Given the description of an element on the screen output the (x, y) to click on. 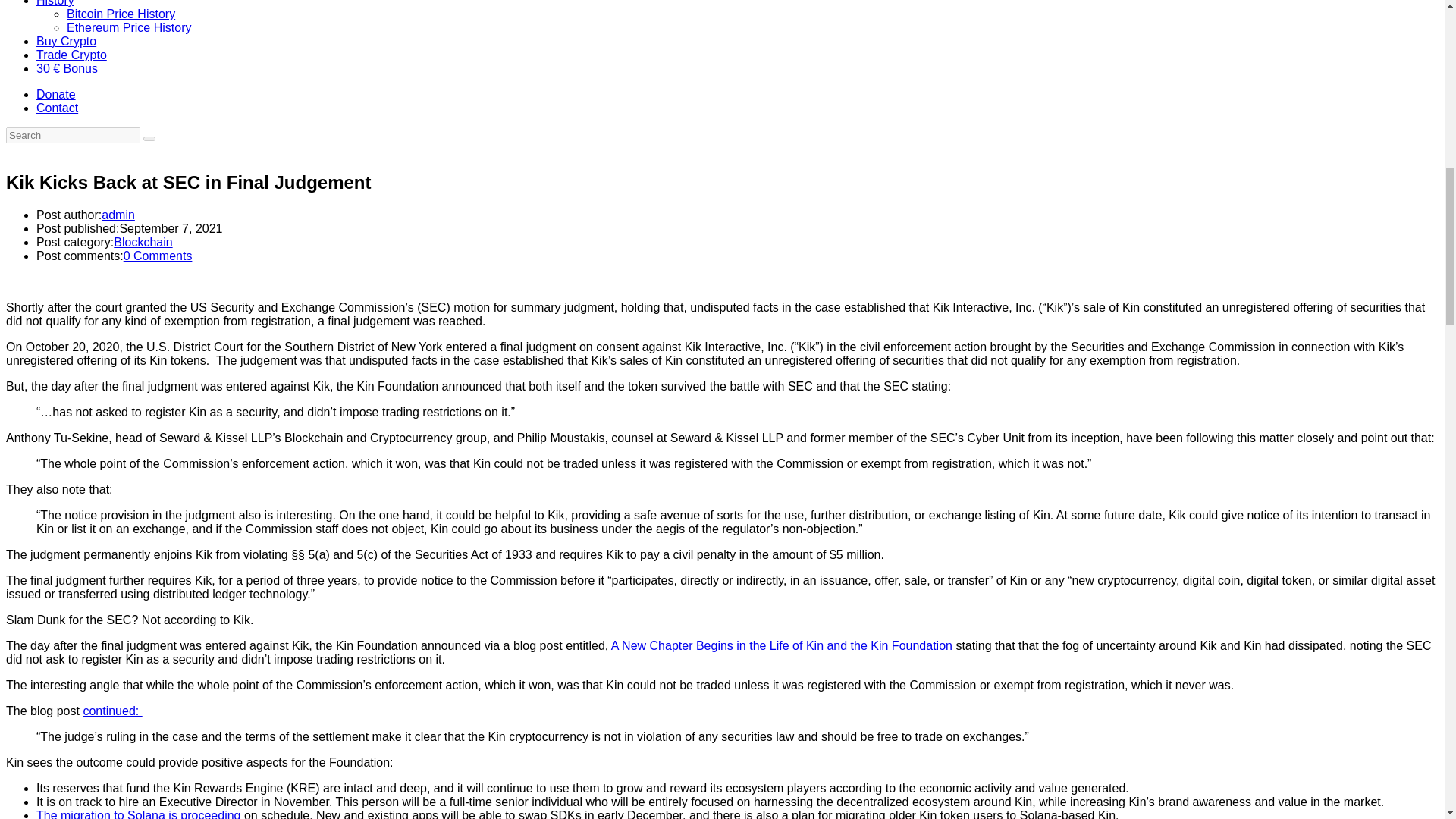
Posts by admin (118, 214)
